Given the description of an element on the screen output the (x, y) to click on. 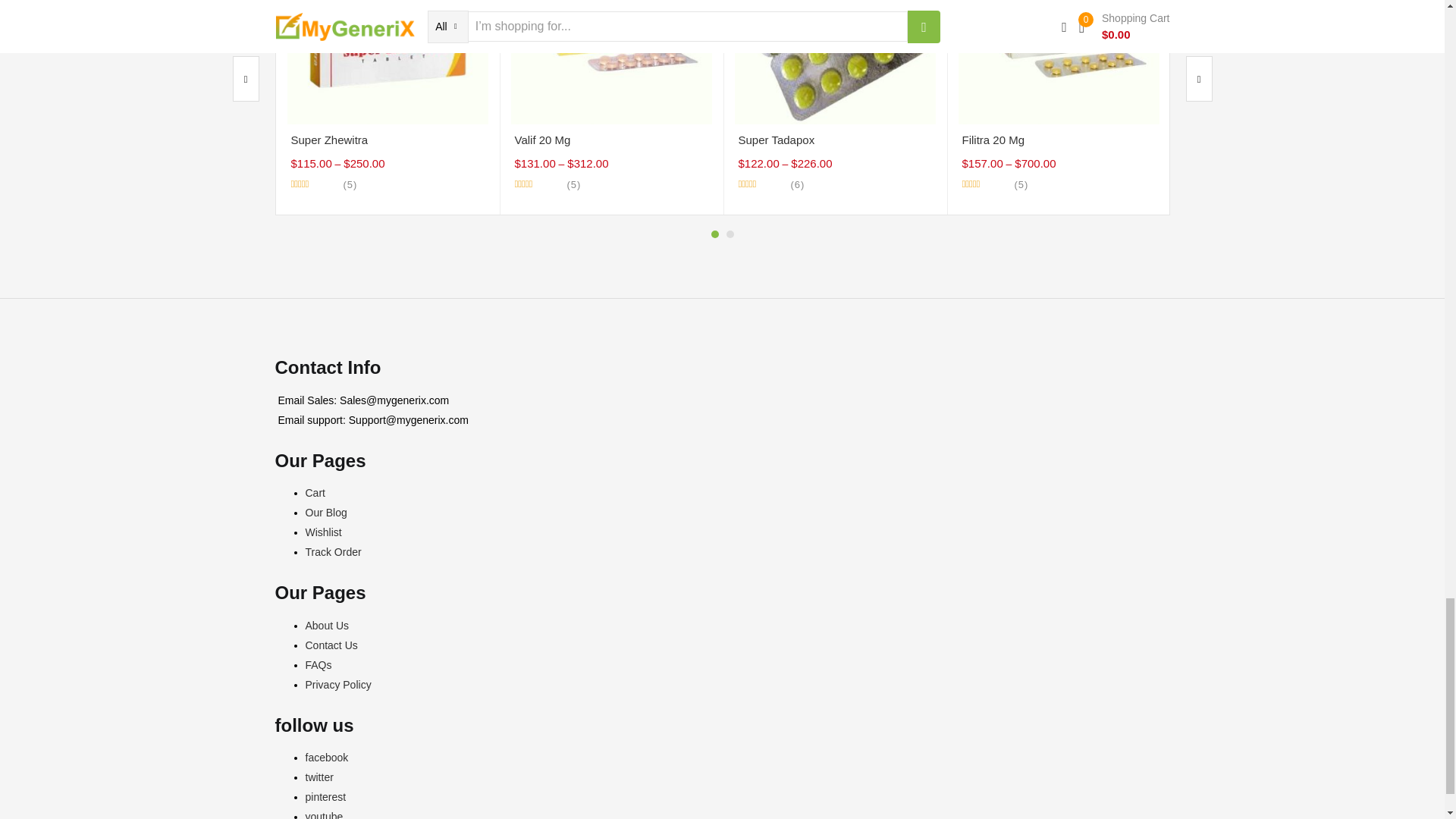
Super Tadapox (833, 22)
Filitra 20 Mg (1058, 22)
Valif 20 Mg (611, 22)
Super Zhewitra (386, 22)
